Given the description of an element on the screen output the (x, y) to click on. 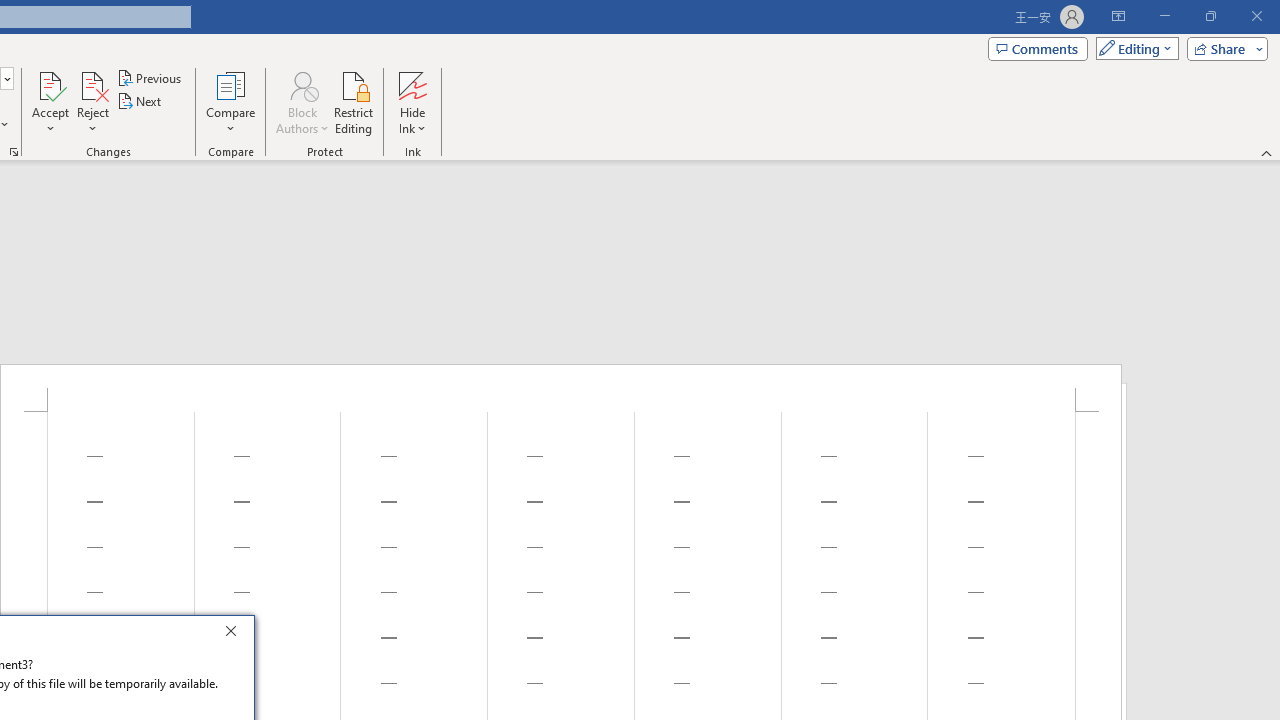
Accept (50, 102)
Block Authors (302, 84)
Block Authors (302, 102)
Reject (92, 102)
Restrict Editing (353, 102)
Compare (230, 102)
Hide Ink (412, 84)
Accept and Move to Next (50, 84)
Change Tracking Options... (13, 151)
